Given the description of an element on the screen output the (x, y) to click on. 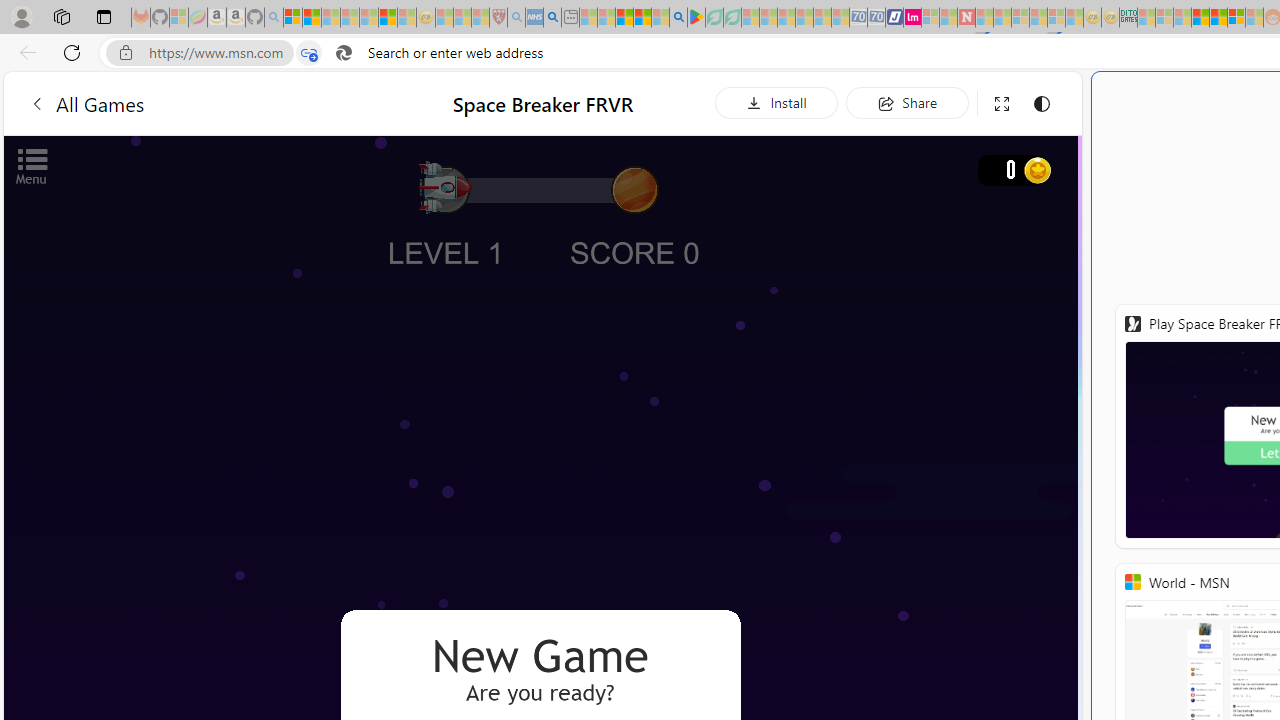
Kinda Frugal - MSN (1218, 17)
Share (907, 102)
Search icon (343, 53)
